Given the description of an element on the screen output the (x, y) to click on. 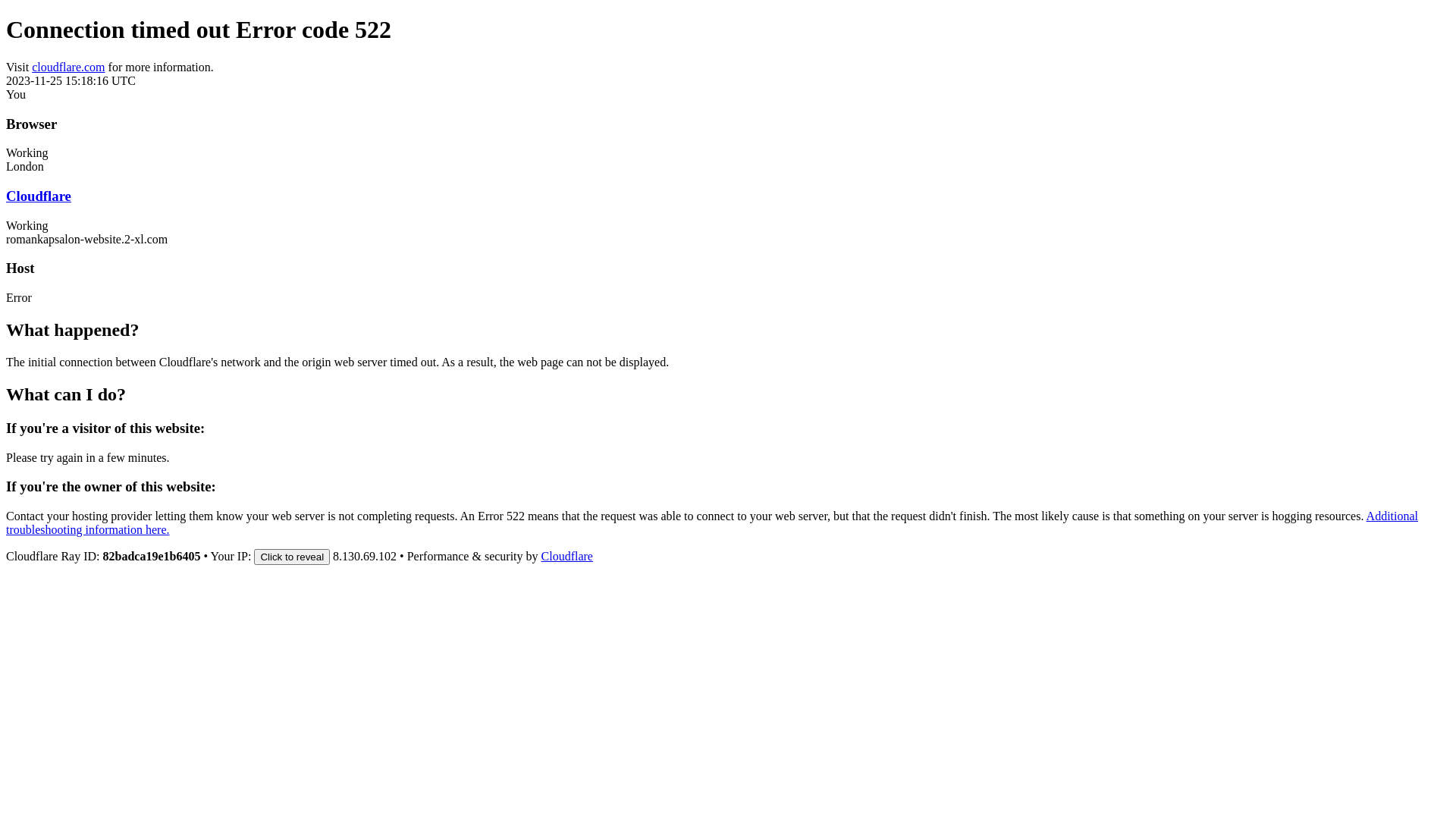
Cloudflare Element type: text (38, 195)
Click to reveal Element type: text (291, 556)
Additional troubleshooting information here. Element type: text (712, 522)
cloudflare.com Element type: text (67, 66)
Cloudflare Element type: text (567, 555)
